Given the description of an element on the screen output the (x, y) to click on. 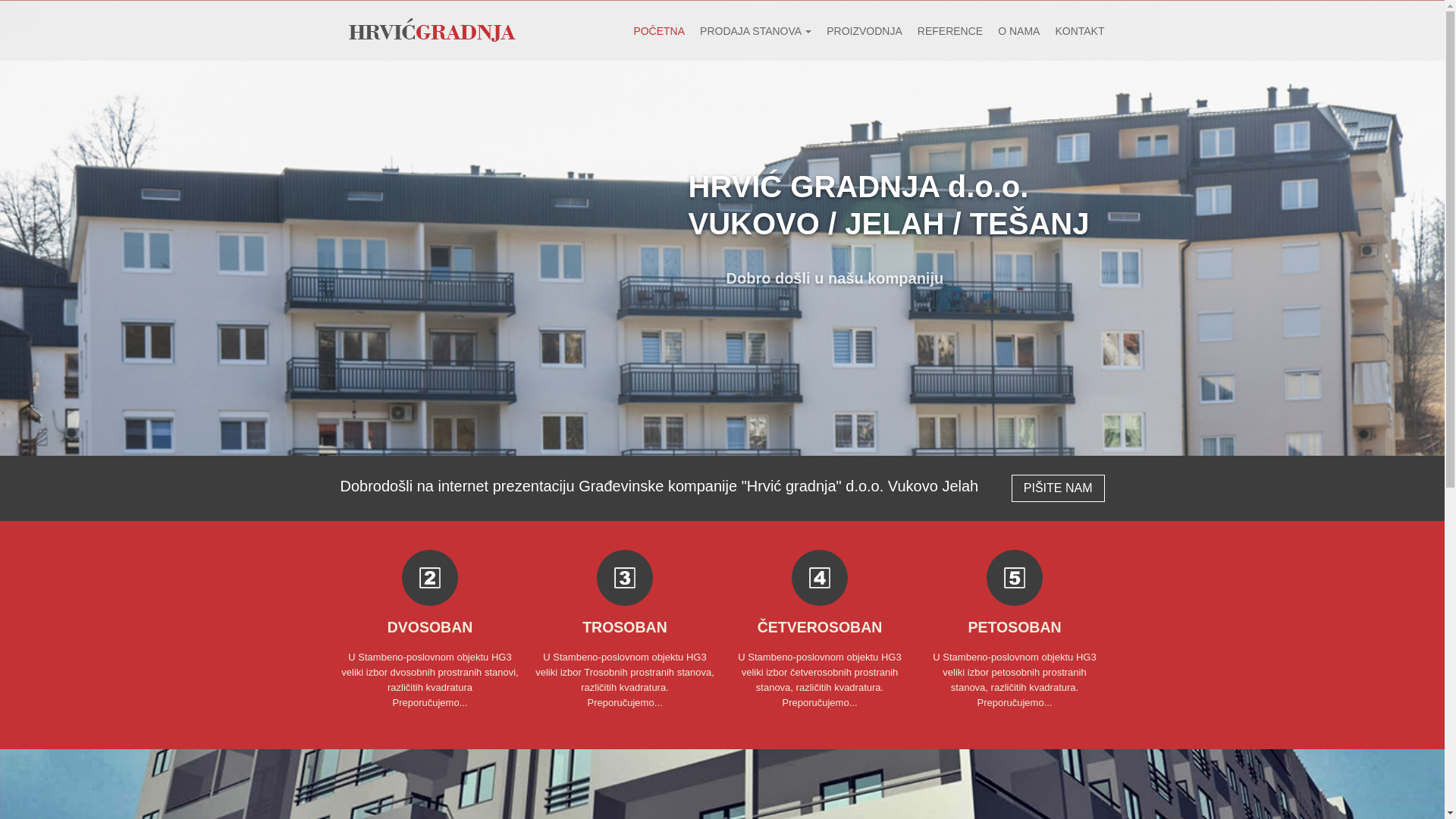
PRODAJA STANOVA Element type: text (747, 30)
REFERENCE Element type: text (942, 30)
  Element type: text (624, 577)
  Element type: text (429, 577)
KONTAKT Element type: text (1071, 30)
  Element type: text (1014, 577)
O NAMA Element type: text (1010, 30)
  Element type: text (819, 577)
PROIZVODNJA Element type: text (856, 30)
